Given the description of an element on the screen output the (x, y) to click on. 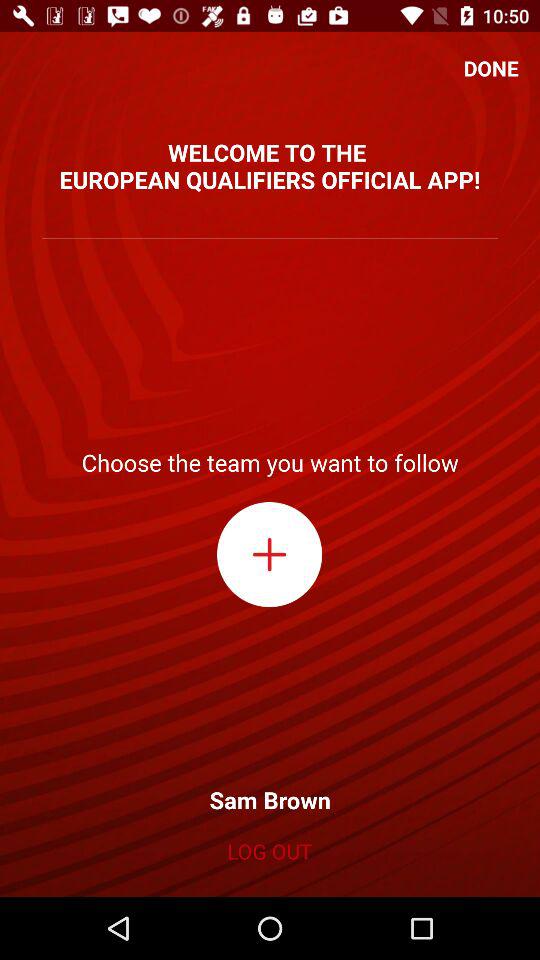
choose a team to follow (269, 554)
